Given the description of an element on the screen output the (x, y) to click on. 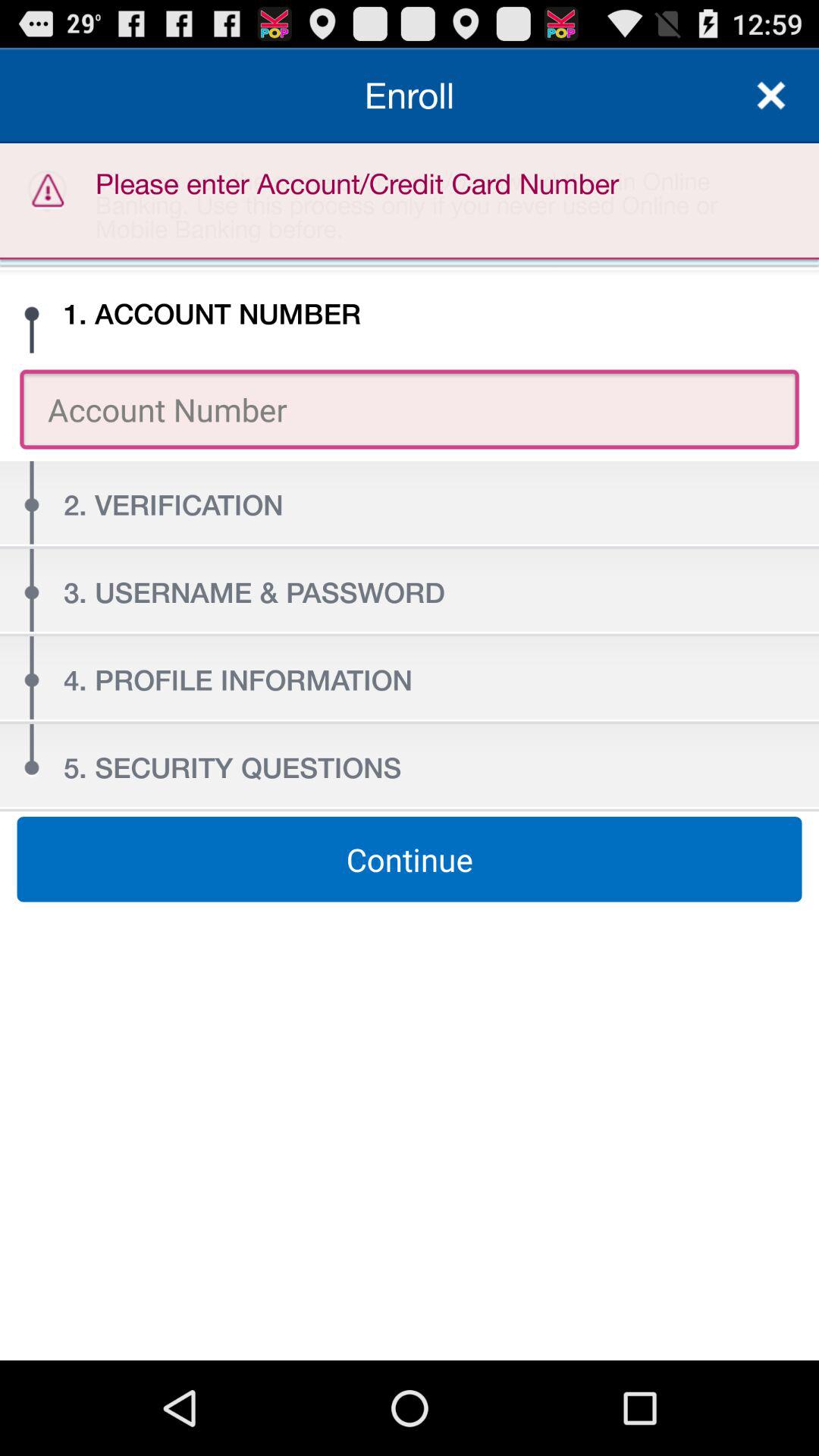
jump to enroll (409, 95)
